Given the description of an element on the screen output the (x, y) to click on. 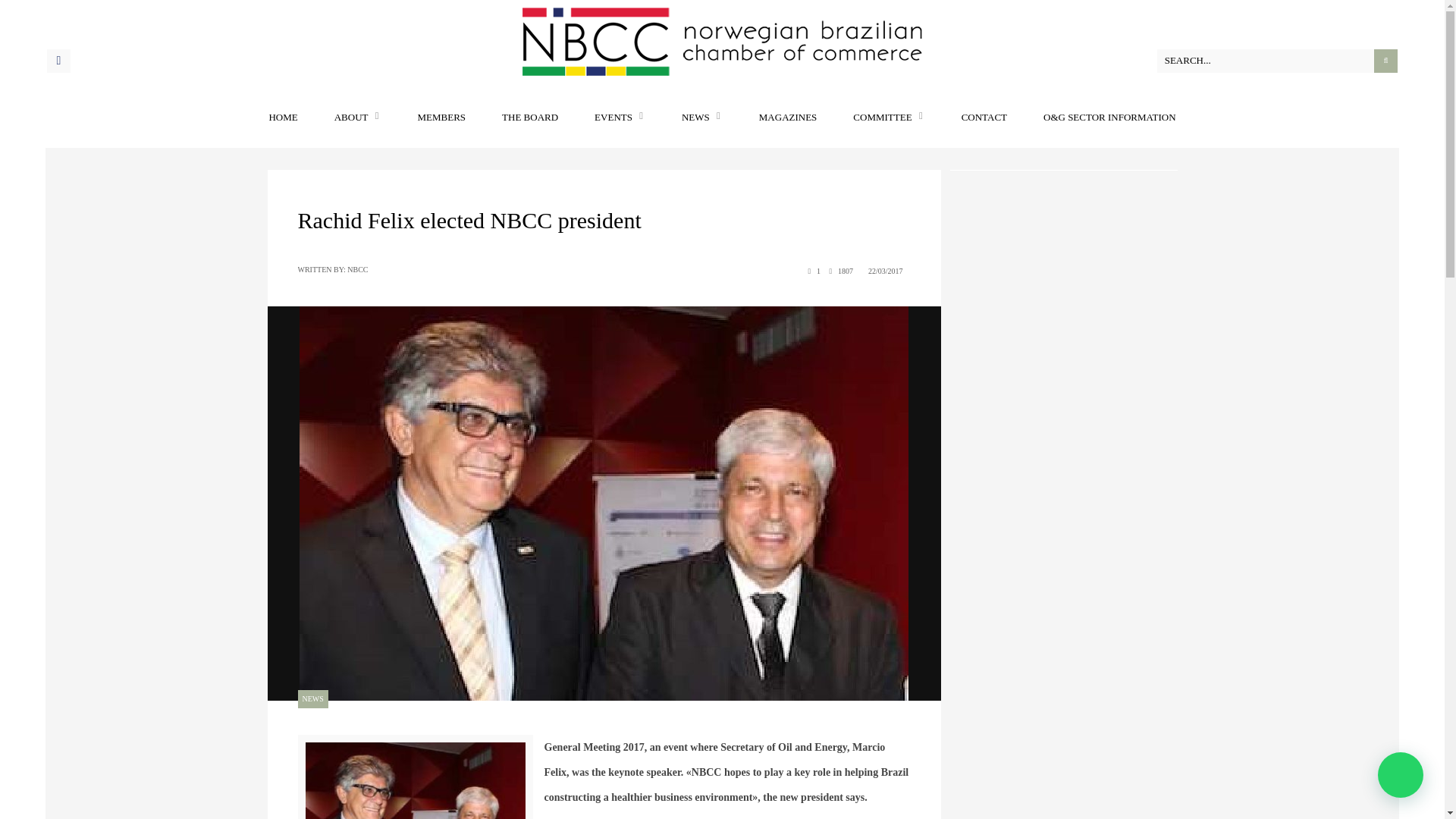
Like (812, 270)
COMMITTEE (888, 117)
MAGAZINES (787, 117)
HOME (282, 117)
Rachid Felix elected NBCC president (468, 220)
ABOUT (357, 117)
EVENTS (619, 117)
 1 (812, 270)
CONTACT (983, 117)
Search... (1277, 60)
From the left: Rachid Felix and Marcio Felix (415, 776)
NBCC (357, 269)
THE BOARD (529, 117)
NEWS (701, 117)
NEWS (312, 698)
